Given the description of an element on the screen output the (x, y) to click on. 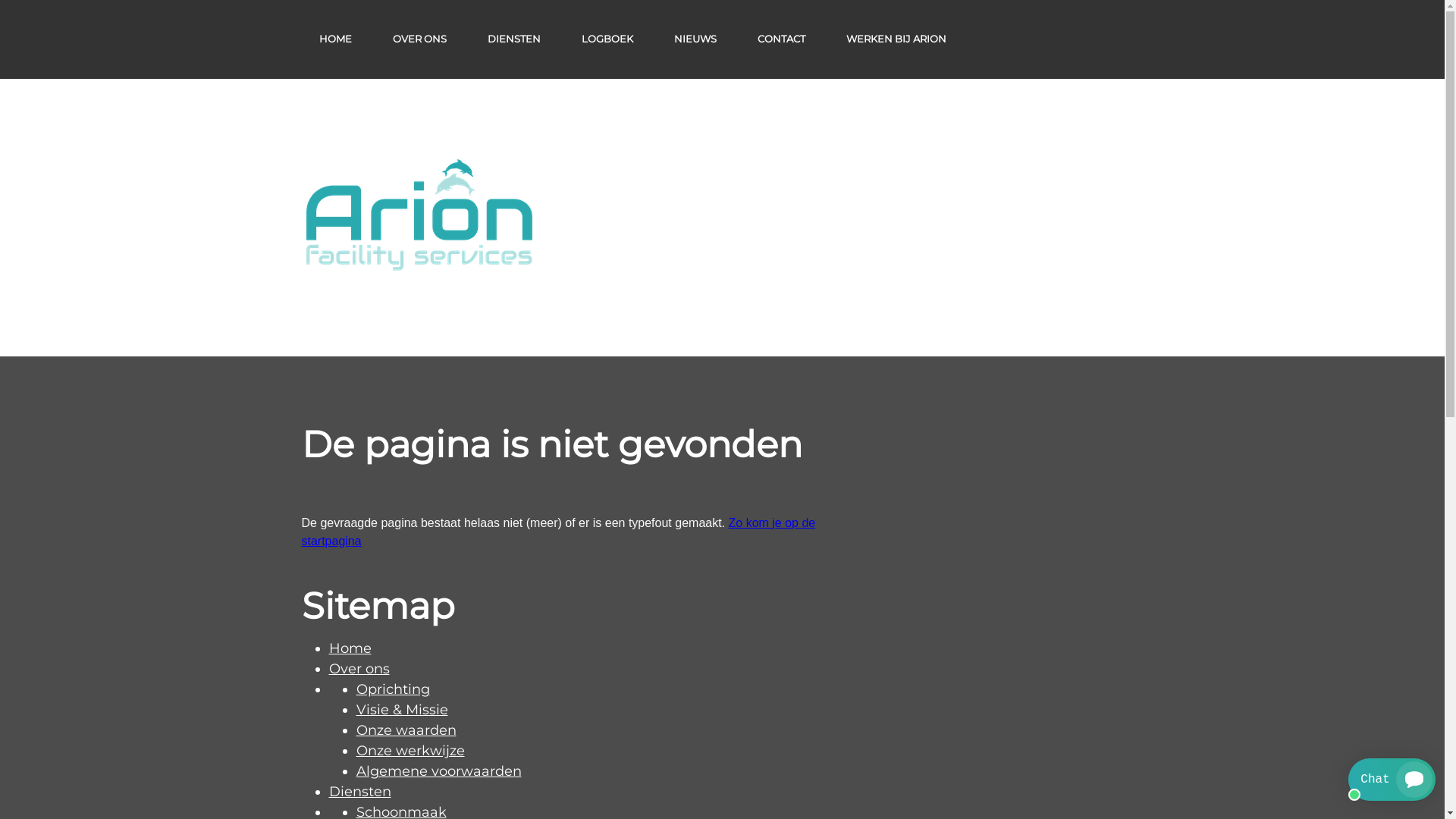
Visie & Missie Element type: text (402, 709)
CONTACT Element type: text (780, 39)
Oprichting Element type: text (392, 688)
HOME Element type: text (334, 39)
WERKEN BIJ ARION Element type: text (896, 39)
Smartsupp widget button Element type: hover (1391, 779)
Over ons Element type: text (359, 668)
Onze werkwijze Element type: text (410, 750)
OVER ONS Element type: text (419, 39)
Diensten Element type: text (360, 791)
Algemene voorwaarden Element type: text (438, 770)
Home Element type: text (350, 648)
LOGBOEK Element type: text (606, 39)
Onze waarden Element type: text (406, 729)
Zo kom je op de startpagina Element type: text (558, 531)
NIEUWS Element type: text (694, 39)
DIENSTEN Element type: text (513, 39)
